Given the description of an element on the screen output the (x, y) to click on. 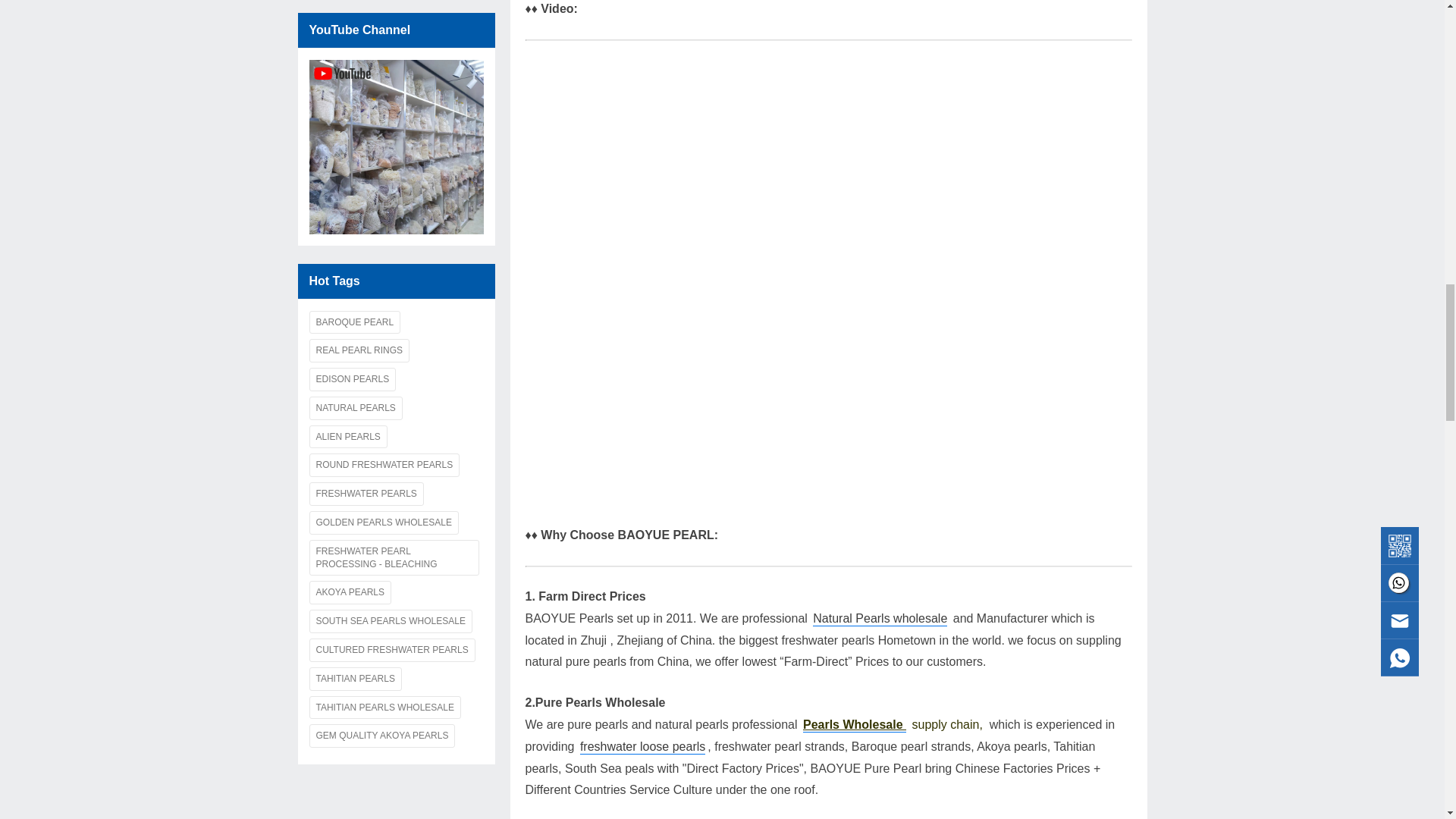
freshwater loose pearls (641, 747)
Natural Pearls wholesale (879, 618)
